Given the description of an element on the screen output the (x, y) to click on. 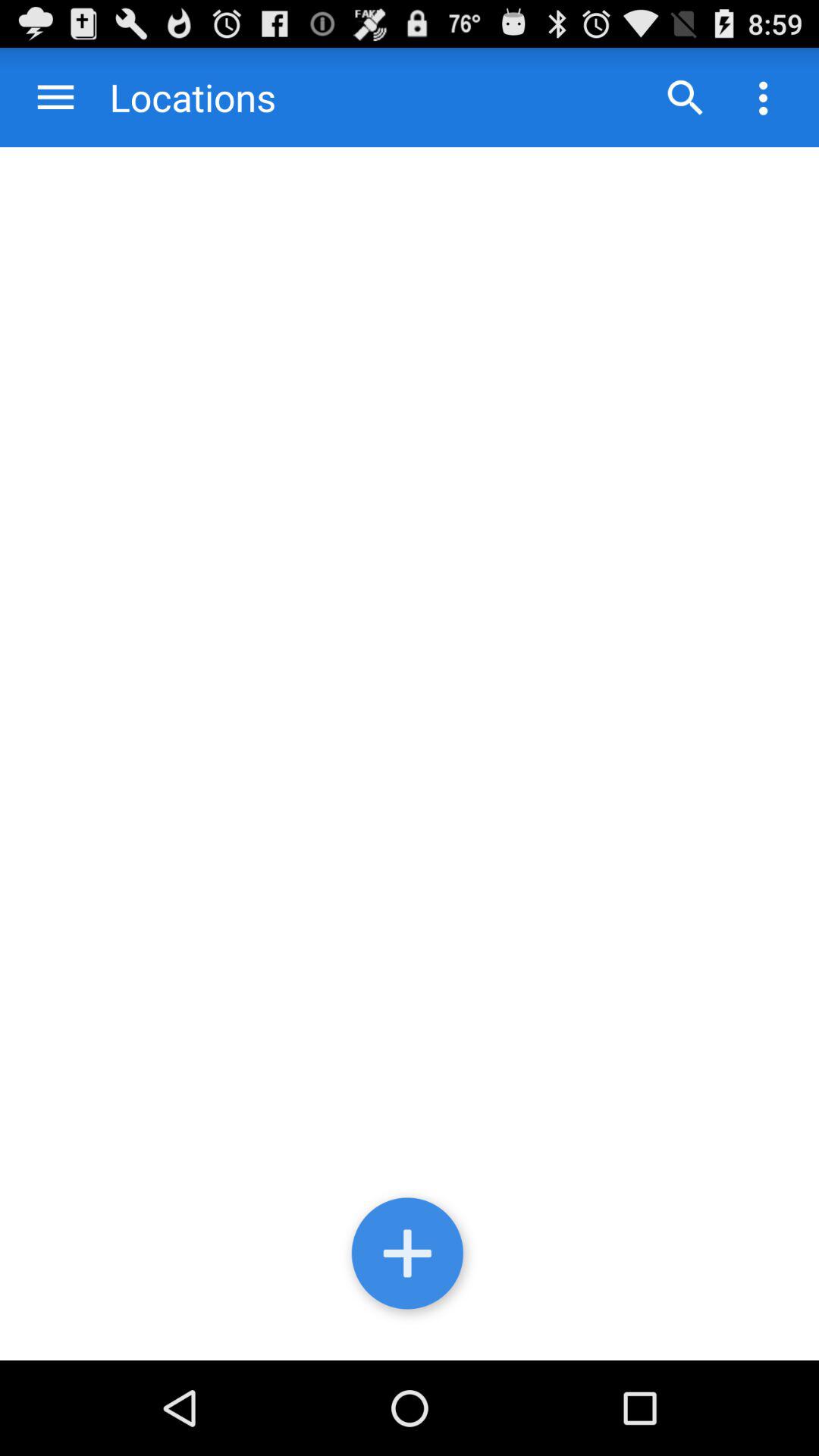
application settings (763, 97)
